Given the description of an element on the screen output the (x, y) to click on. 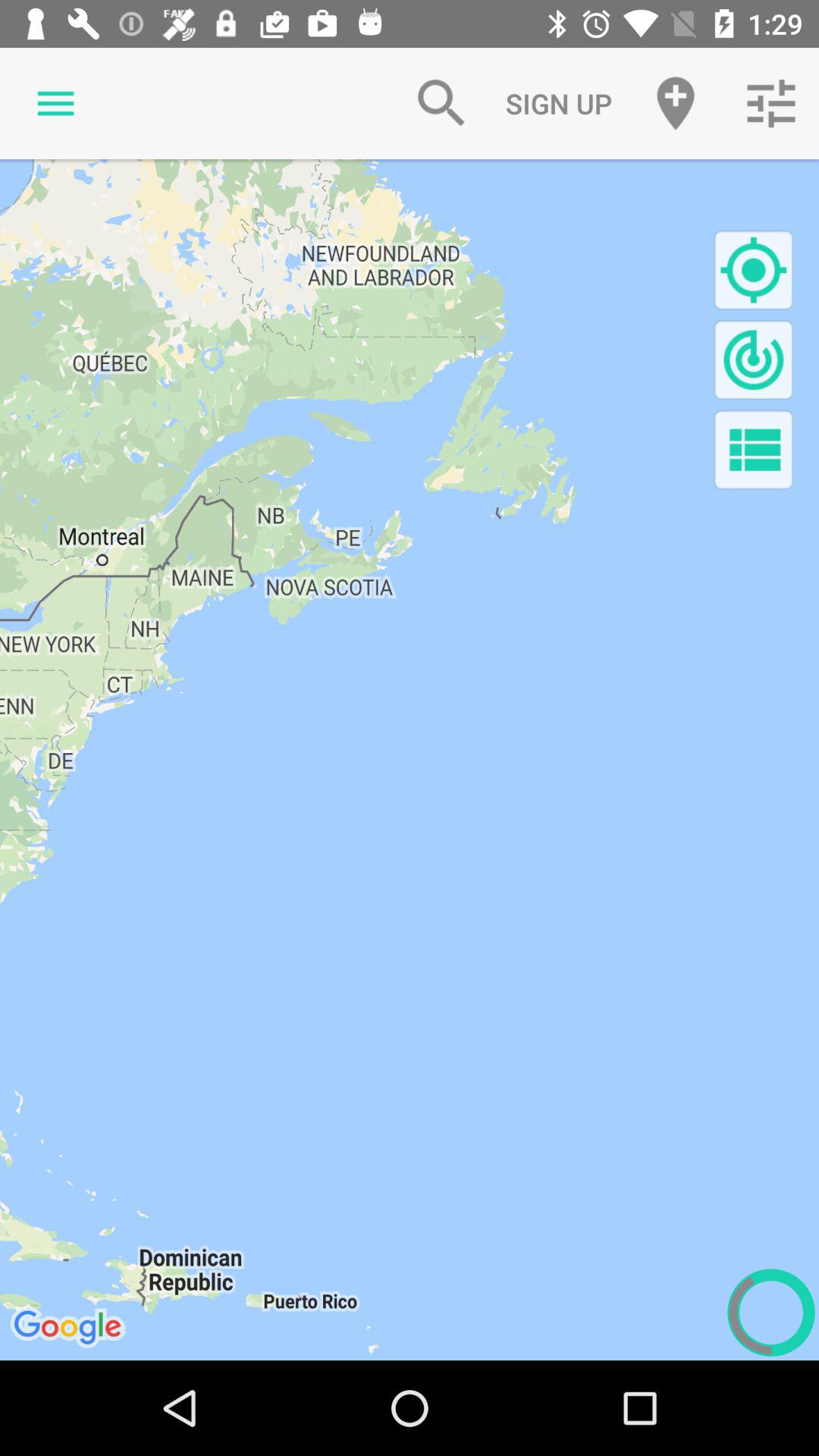
click item at the center (409, 759)
